Given the description of an element on the screen output the (x, y) to click on. 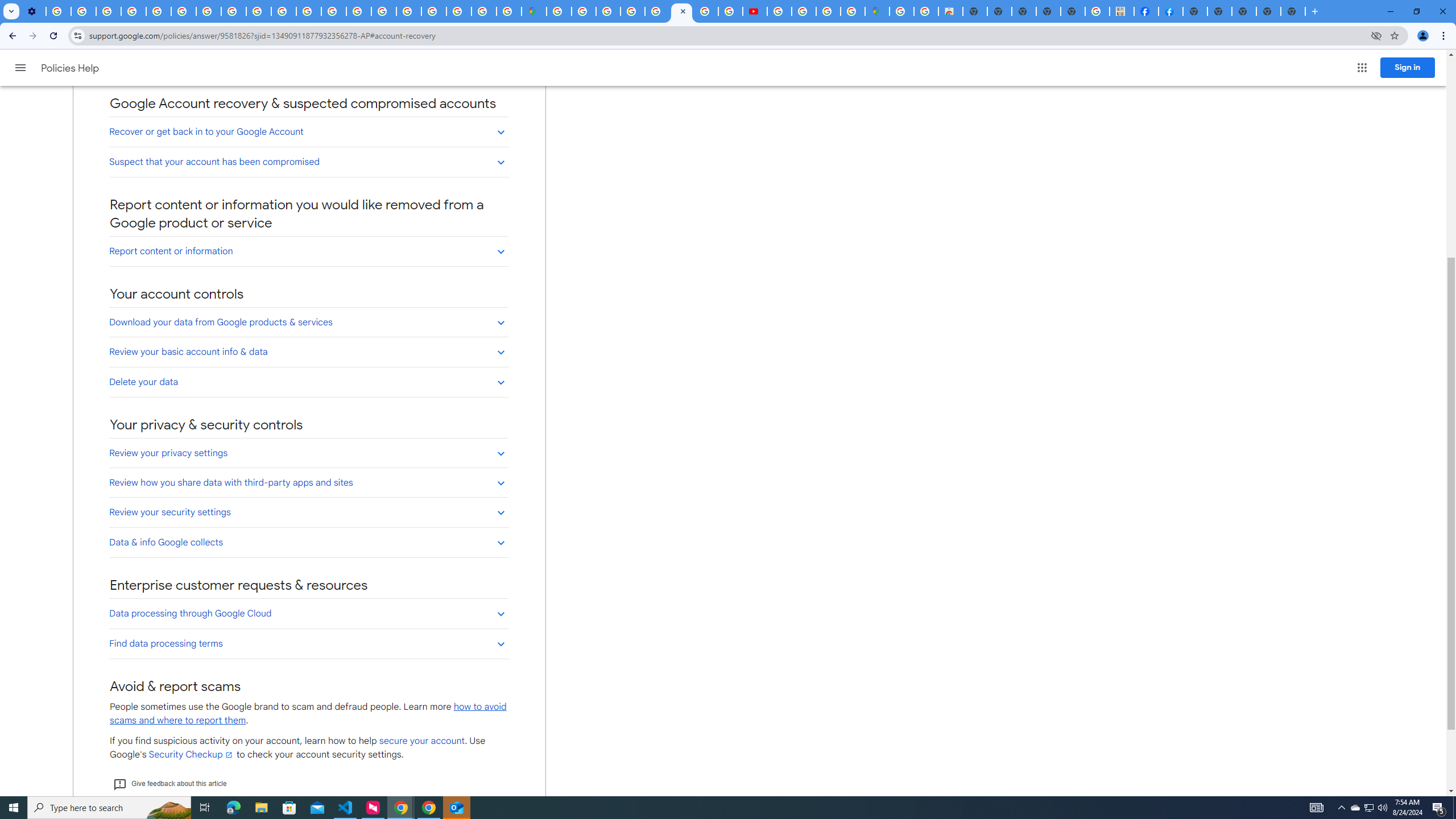
Review how you share data with third-party apps and sites (308, 482)
